Given the description of an element on the screen output the (x, y) to click on. 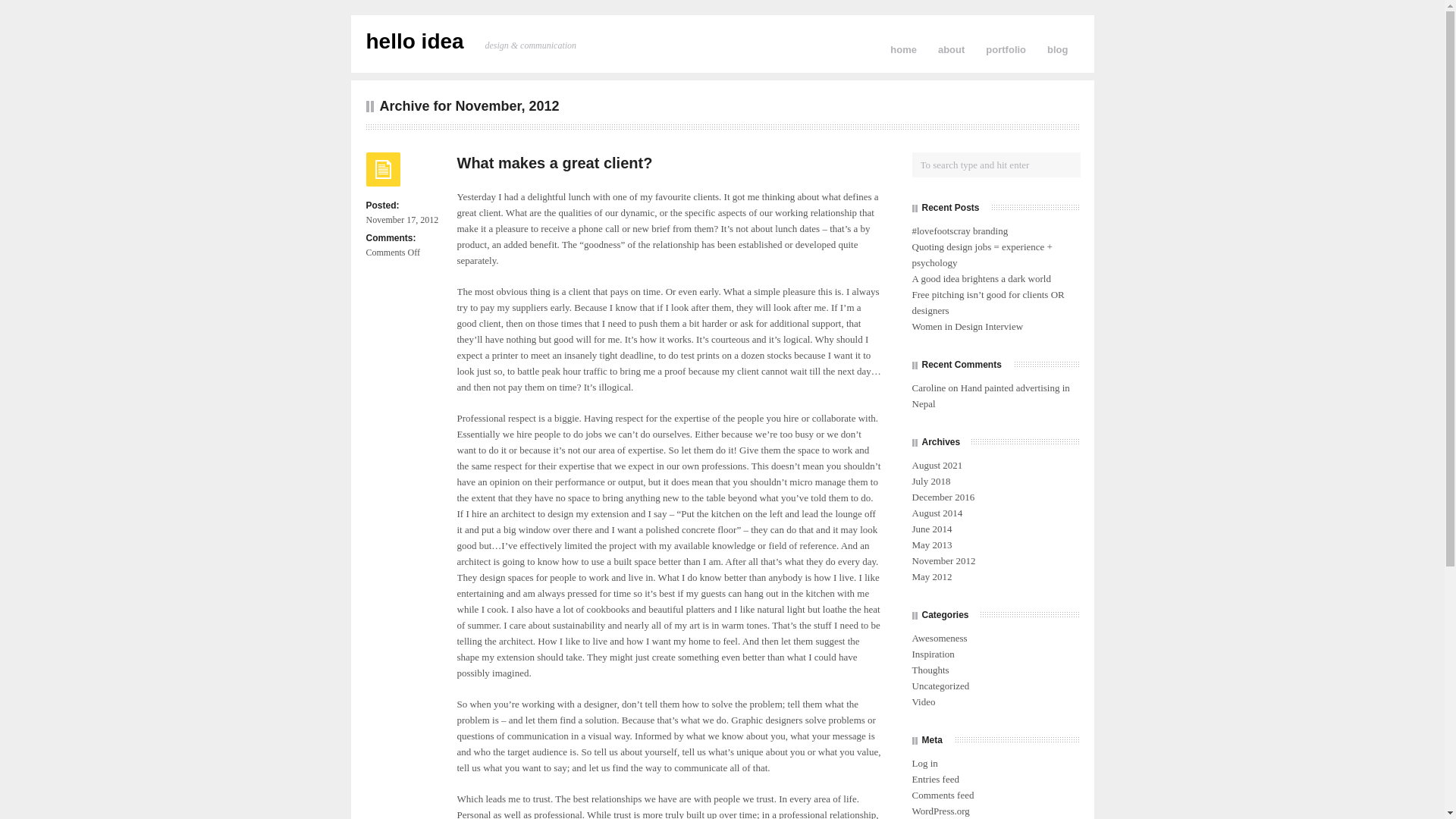
July 2018 (931, 480)
Permanent link to What makes a great client? (382, 174)
What makes a great client? (555, 162)
December 2016 (942, 496)
August 2014 (936, 512)
Video (923, 701)
Inspiration (932, 654)
June 2014 (931, 528)
August 2021 (936, 464)
November 2012 (943, 560)
May 2012 (931, 576)
home (903, 49)
Comments feed (942, 794)
portfolio (1005, 49)
Permanent Link to What makes a great client? (555, 162)
